Given the description of an element on the screen output the (x, y) to click on. 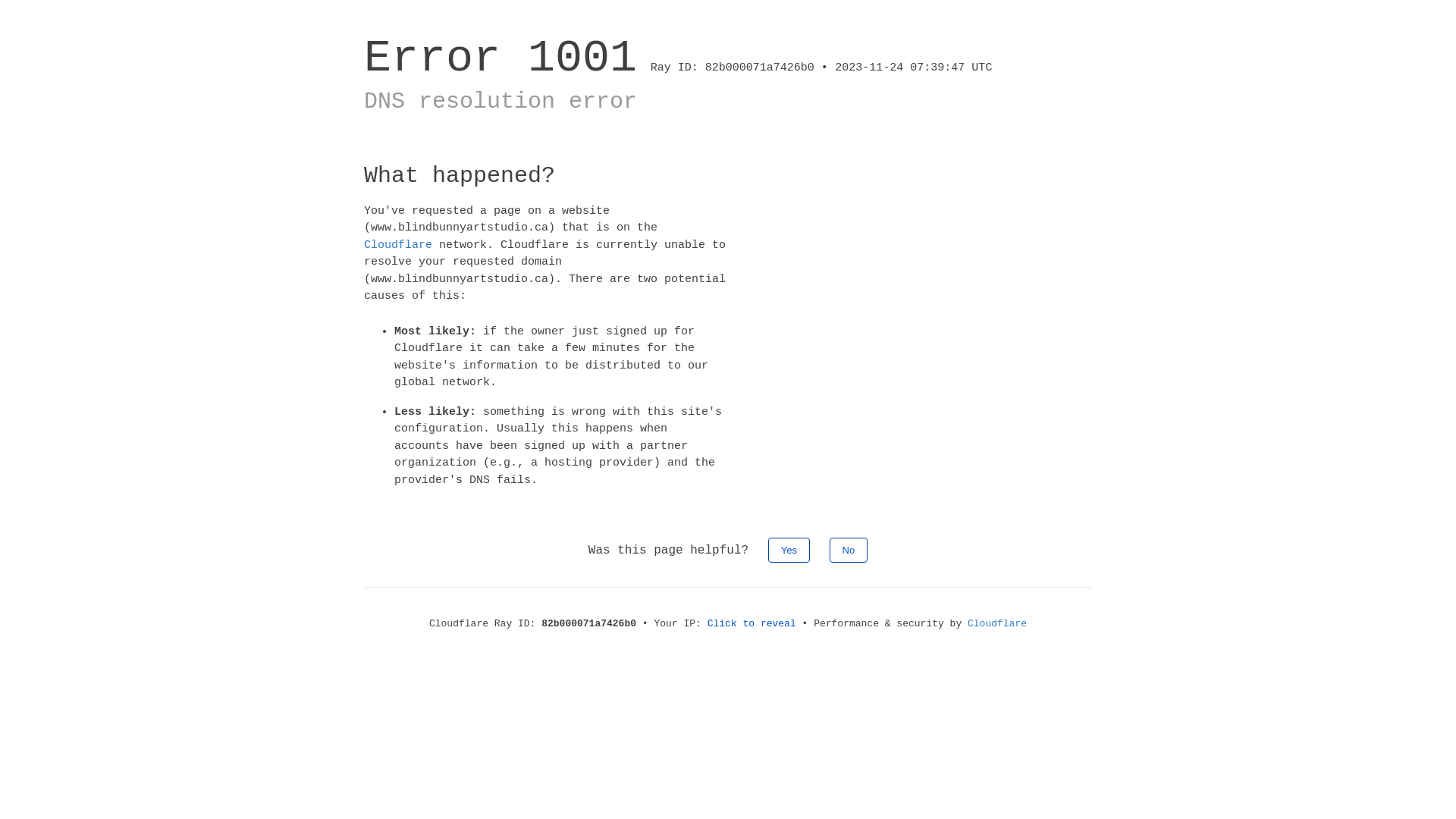
Cloudflare Element type: text (398, 244)
Yes Element type: text (788, 549)
No Element type: text (848, 549)
Cloudflare Element type: text (996, 623)
Click to reveal Element type: text (751, 623)
